Given the description of an element on the screen output the (x, y) to click on. 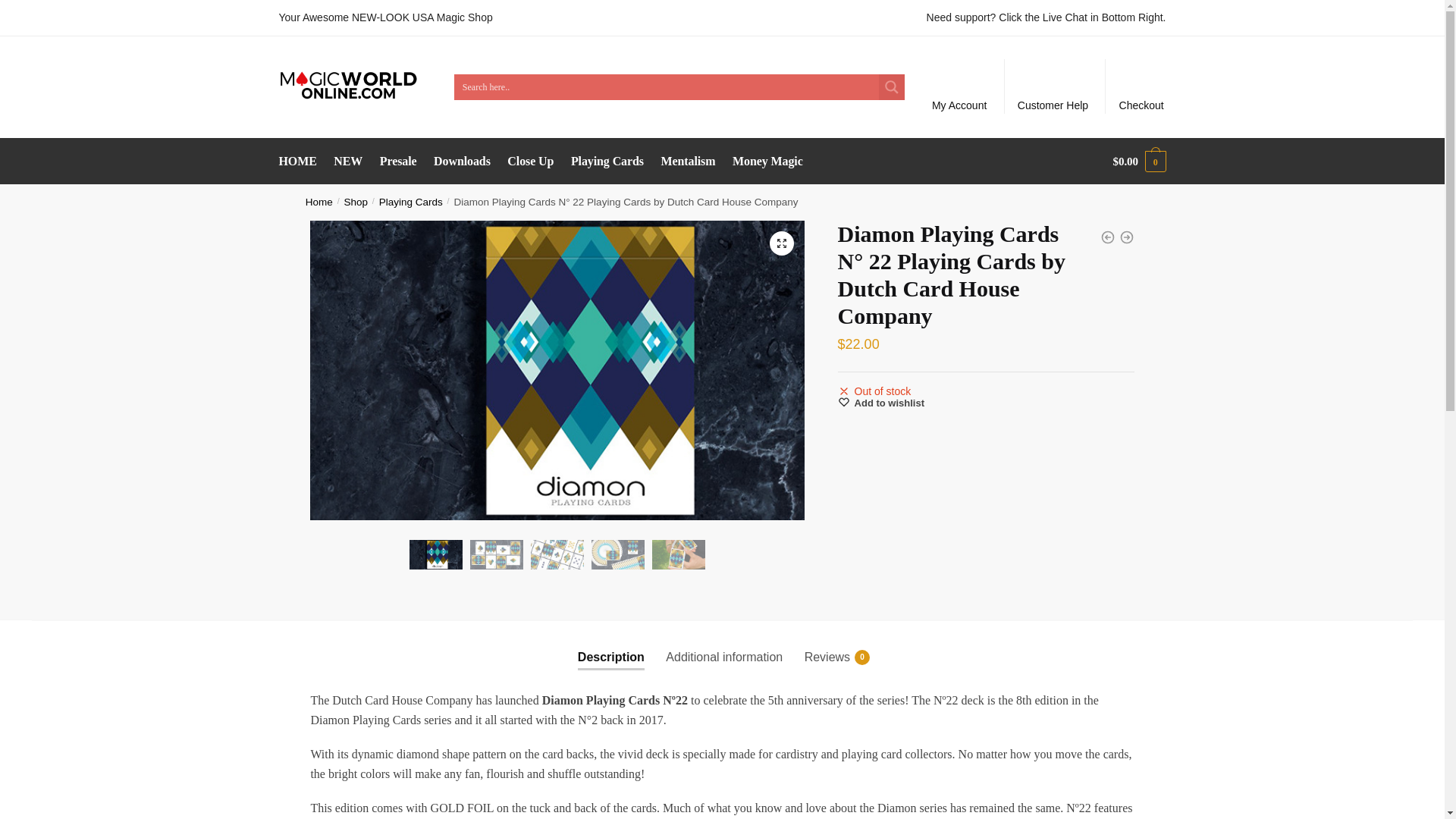
Add to wishlist (881, 402)
Additional information (724, 644)
Home (319, 202)
Money Magic (767, 161)
Playing Cards (607, 161)
Shop (355, 202)
Checkout (1141, 86)
Presale (397, 161)
Customer Help (1053, 86)
Close Up (530, 161)
Description (611, 644)
NEW (348, 161)
Playing Cards (410, 202)
My Account (959, 86)
